Given the description of an element on the screen output the (x, y) to click on. 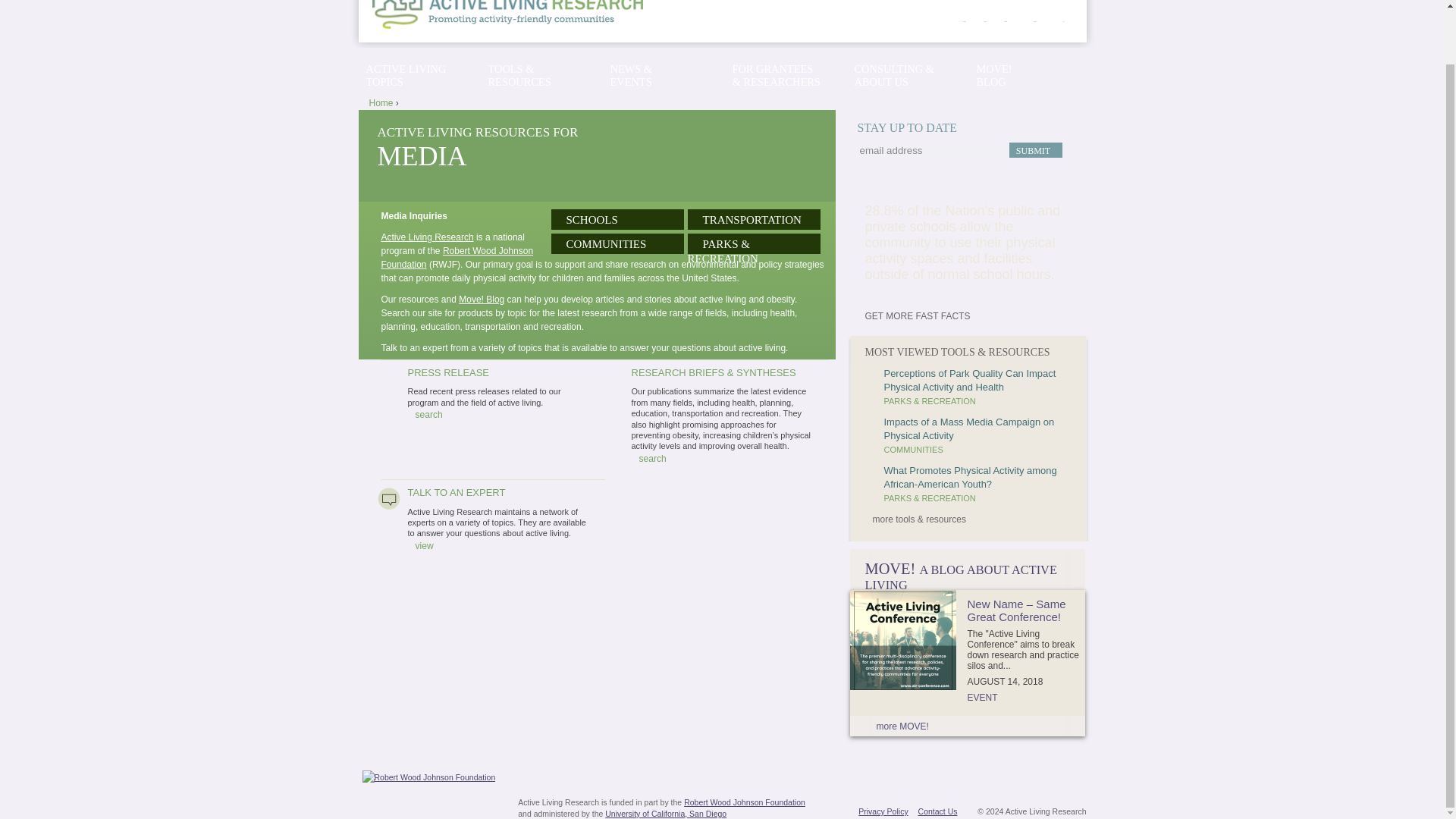
Impacts of a Mass Media Campaign on Physical Activity (968, 428)
Submit (1035, 150)
feed (1064, 21)
COMMUNITIES (913, 449)
Submit (1035, 150)
email address (932, 150)
Move! Blog (480, 299)
search (647, 458)
linkedin (1005, 21)
Active Living Research (426, 236)
Home (380, 102)
Home (521, 14)
TALK TO AN EXPERT (456, 491)
youtube (1035, 21)
